Given the description of an element on the screen output the (x, y) to click on. 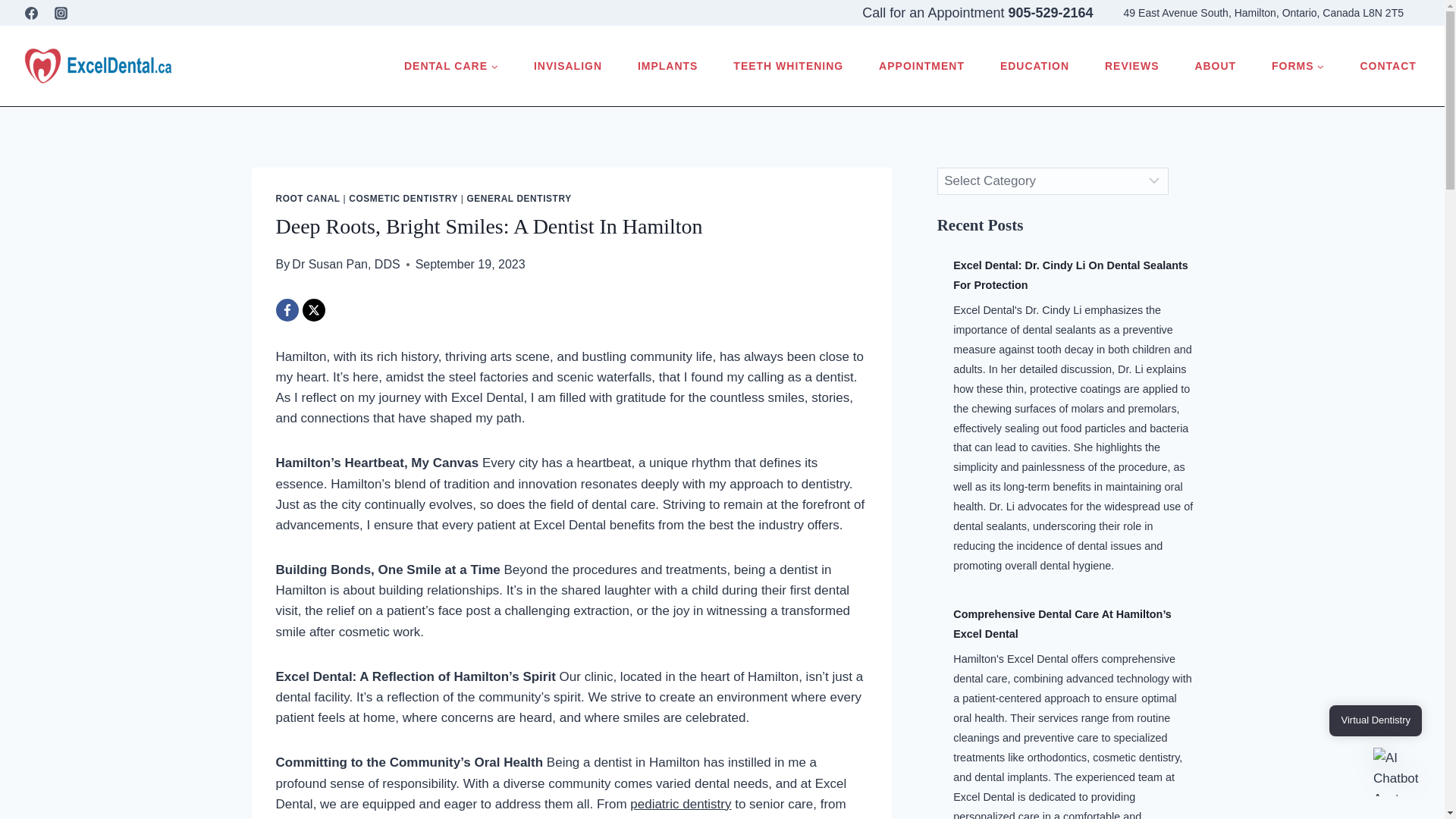
Dr Susan Pan, DDS (345, 264)
49 East Avenue South, Hamilton, Ontario, Canada L8N 2T5 (1263, 12)
CONTACT (1387, 65)
REVIEWS (1131, 65)
EDUCATION (1034, 65)
APPOINTMENT (921, 65)
ROOT CANAL (308, 198)
GENERAL DENTISTRY (517, 198)
905-529-2164 (1050, 12)
INVISALIGN (567, 65)
ABOUT (1215, 65)
TEETH WHITENING (788, 65)
IMPLANTS (667, 65)
FORMS (1298, 65)
Call for an Appointment (934, 12)
